Given the description of an element on the screen output the (x, y) to click on. 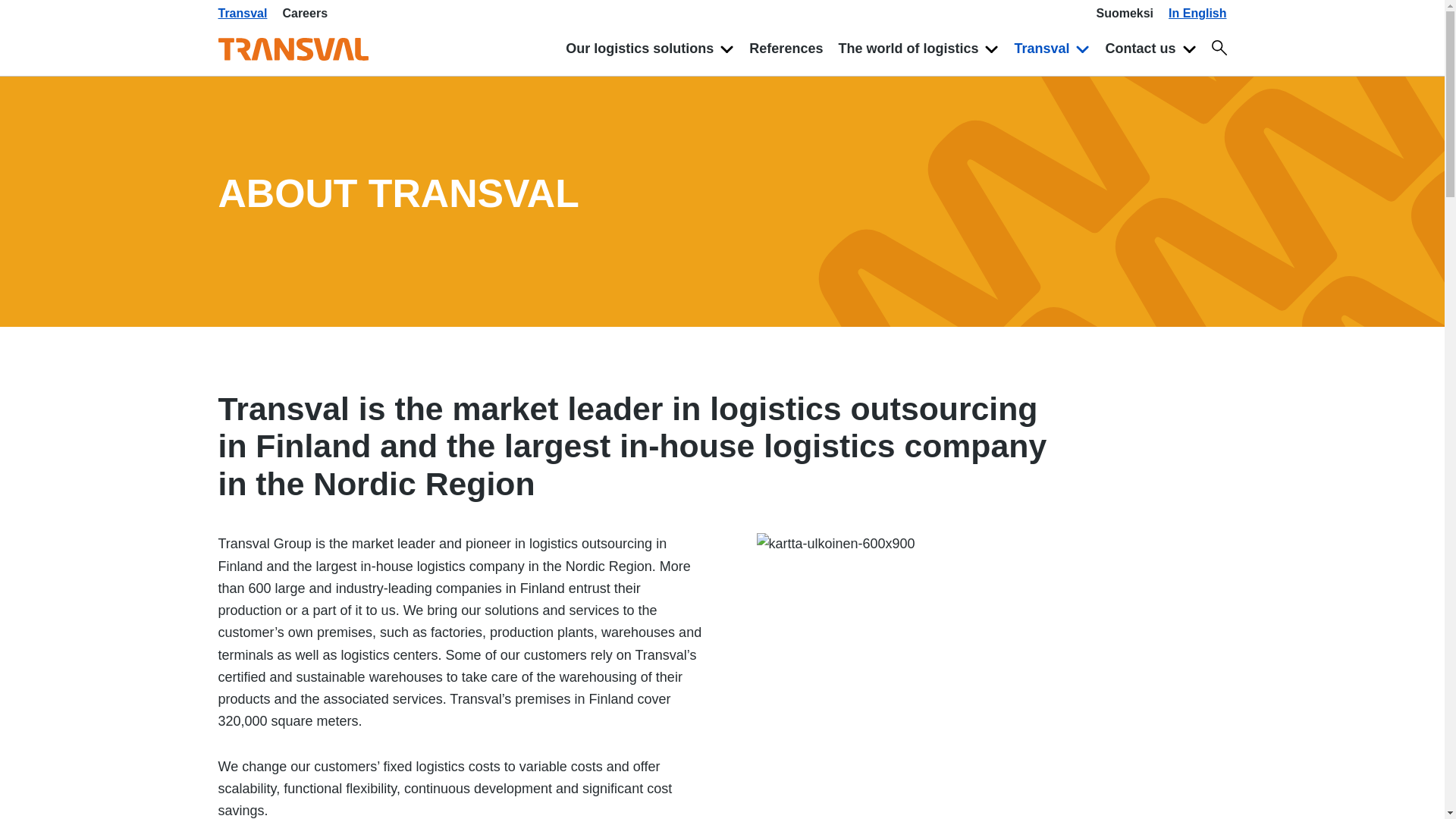
Transval (1051, 48)
Suomeksi (1120, 13)
Transval (246, 13)
In English (1192, 13)
Transval Search (1219, 47)
References (785, 48)
Careers (308, 13)
Our logistics solutions (649, 48)
The world of logistics (918, 48)
